Given the description of an element on the screen output the (x, y) to click on. 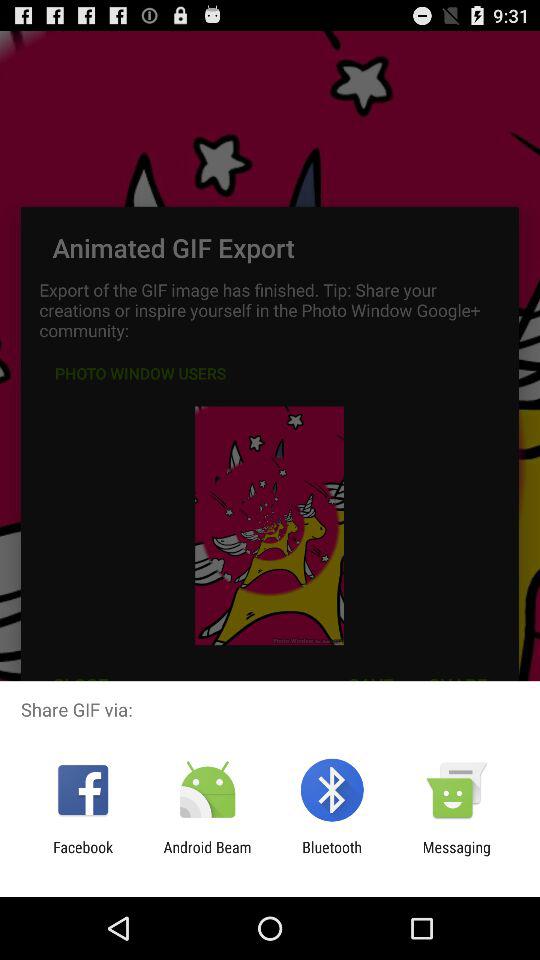
select the item to the right of facebook item (207, 856)
